Given the description of an element on the screen output the (x, y) to click on. 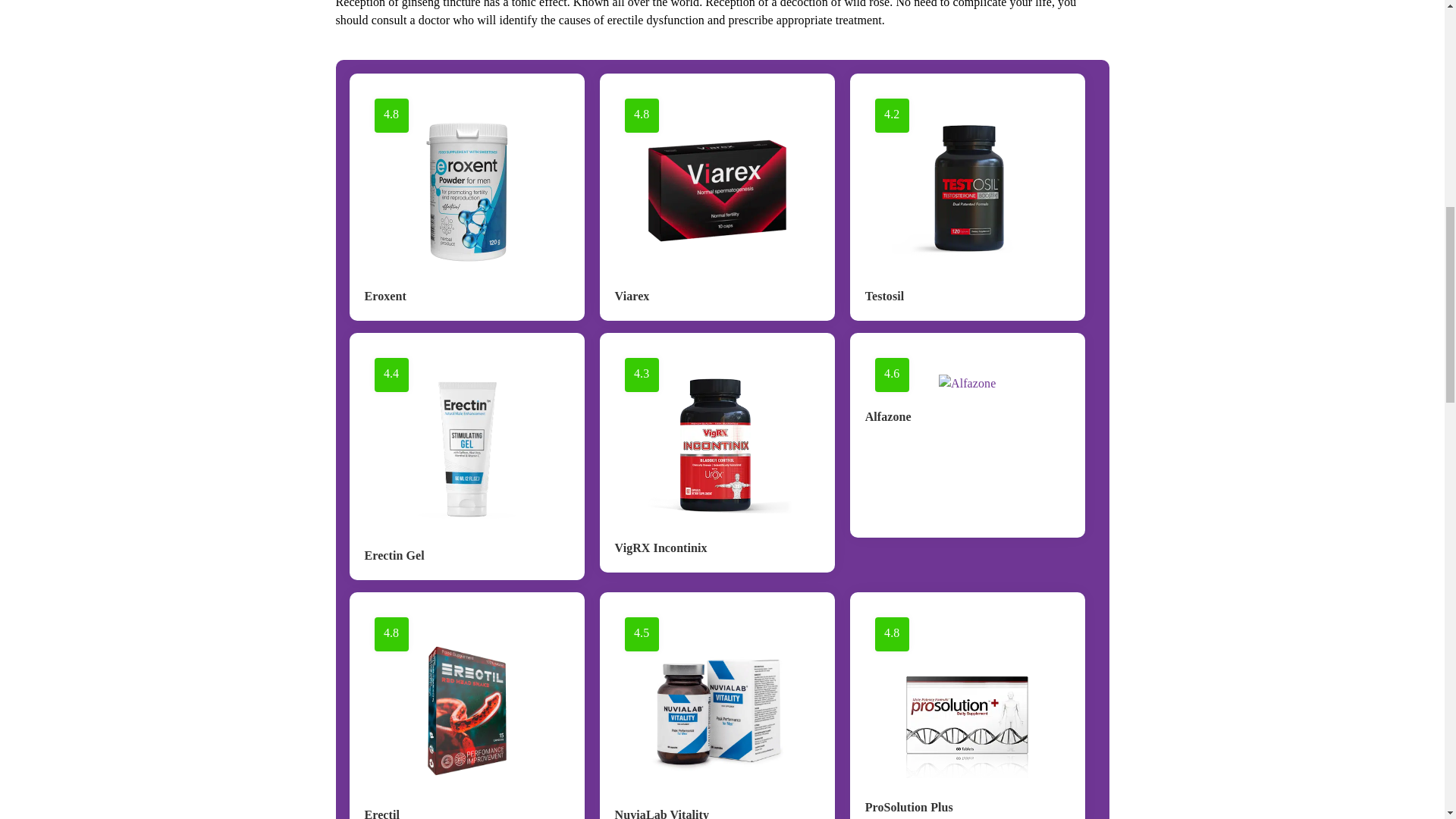
Erectil (381, 813)
Erectin Gel (393, 554)
NuviaLab Vitality (662, 813)
Viarex (631, 295)
VigRX Incontinix (660, 547)
Eroxent (385, 295)
